Given the description of an element on the screen output the (x, y) to click on. 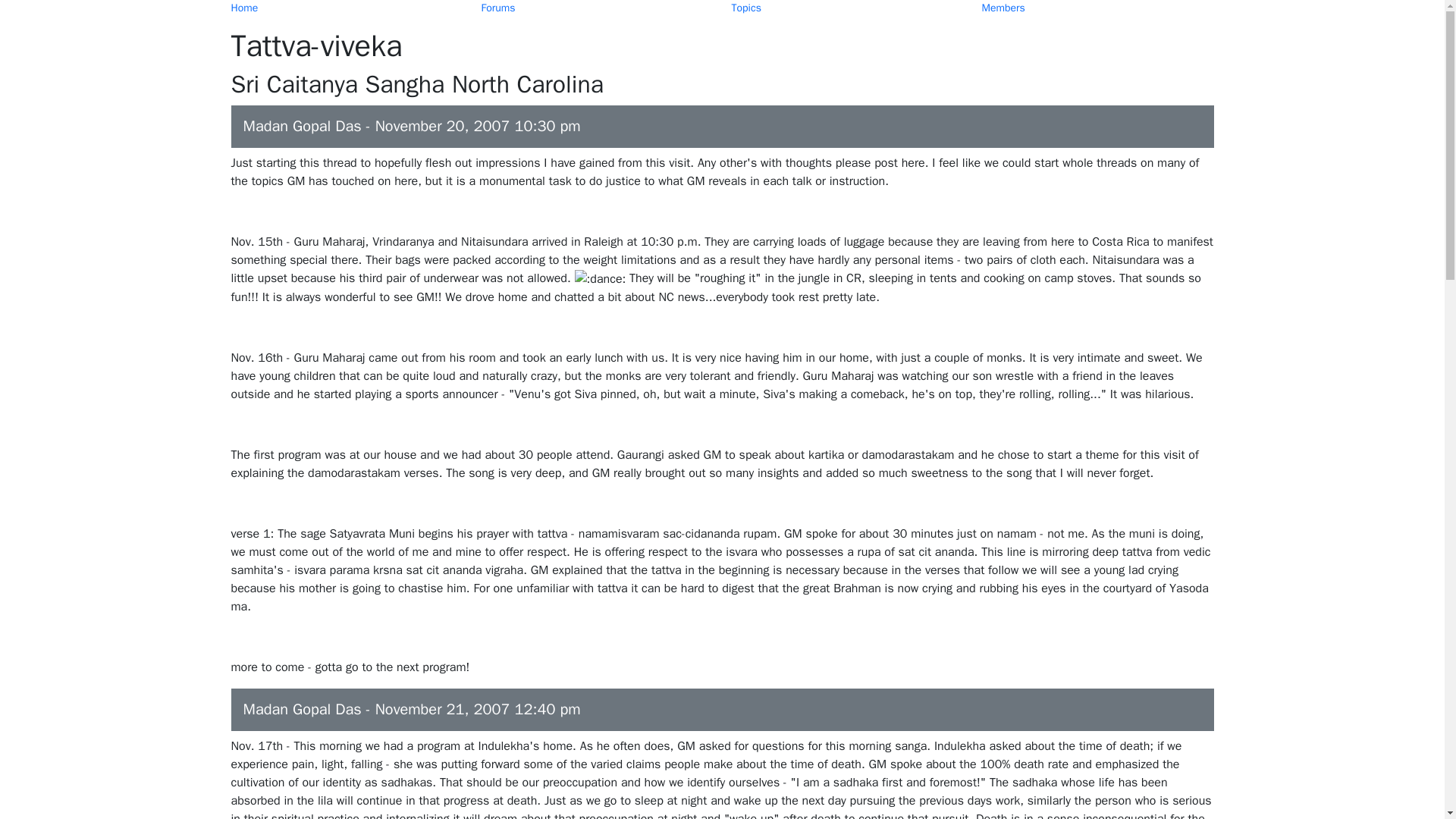
Forums (497, 7)
Members (1003, 7)
Home (243, 7)
Topics (745, 7)
